Given the description of an element on the screen output the (x, y) to click on. 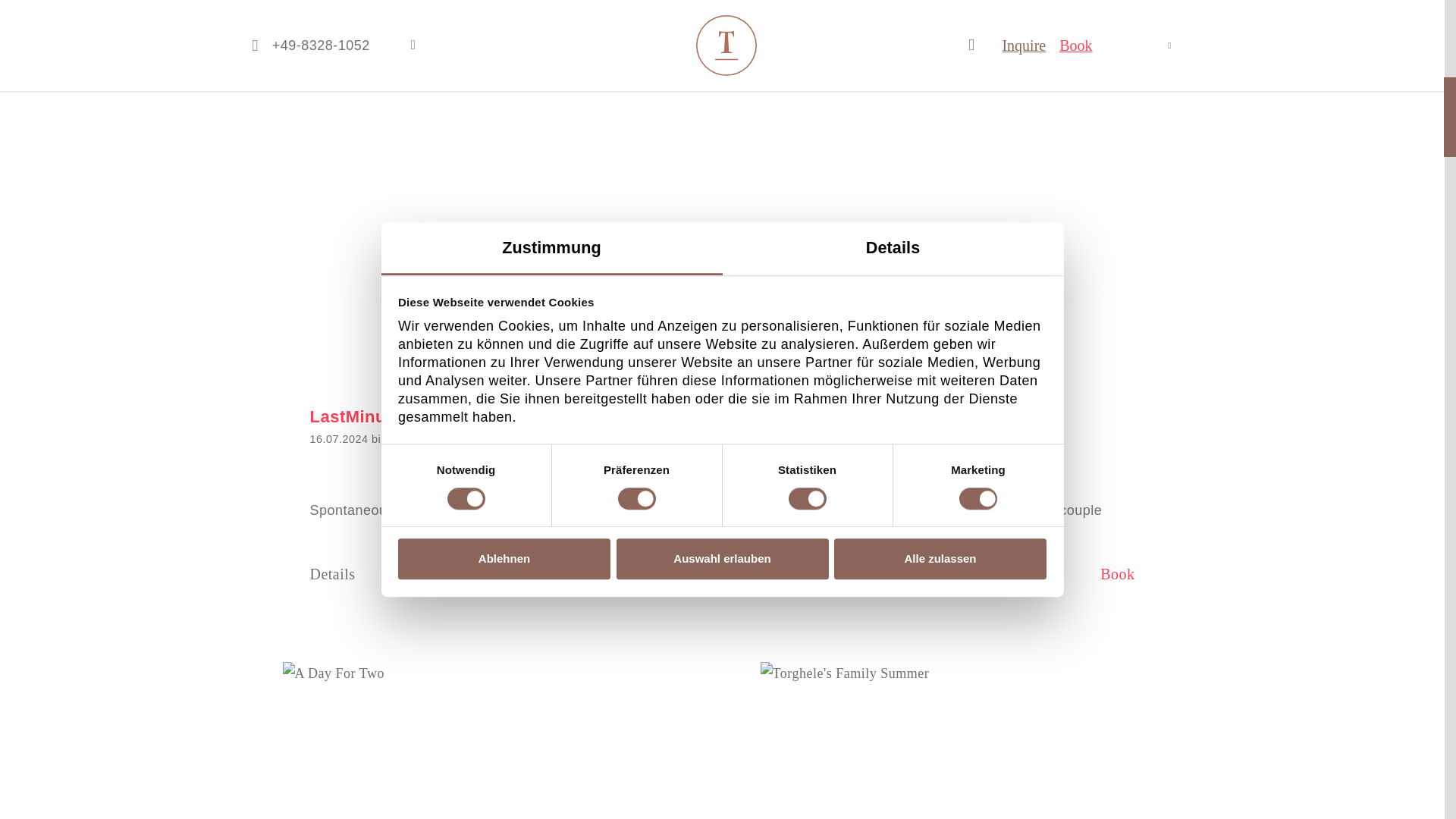
Torghele's Family Summer (960, 740)
A Day For Two (483, 740)
